Given the description of an element on the screen output the (x, y) to click on. 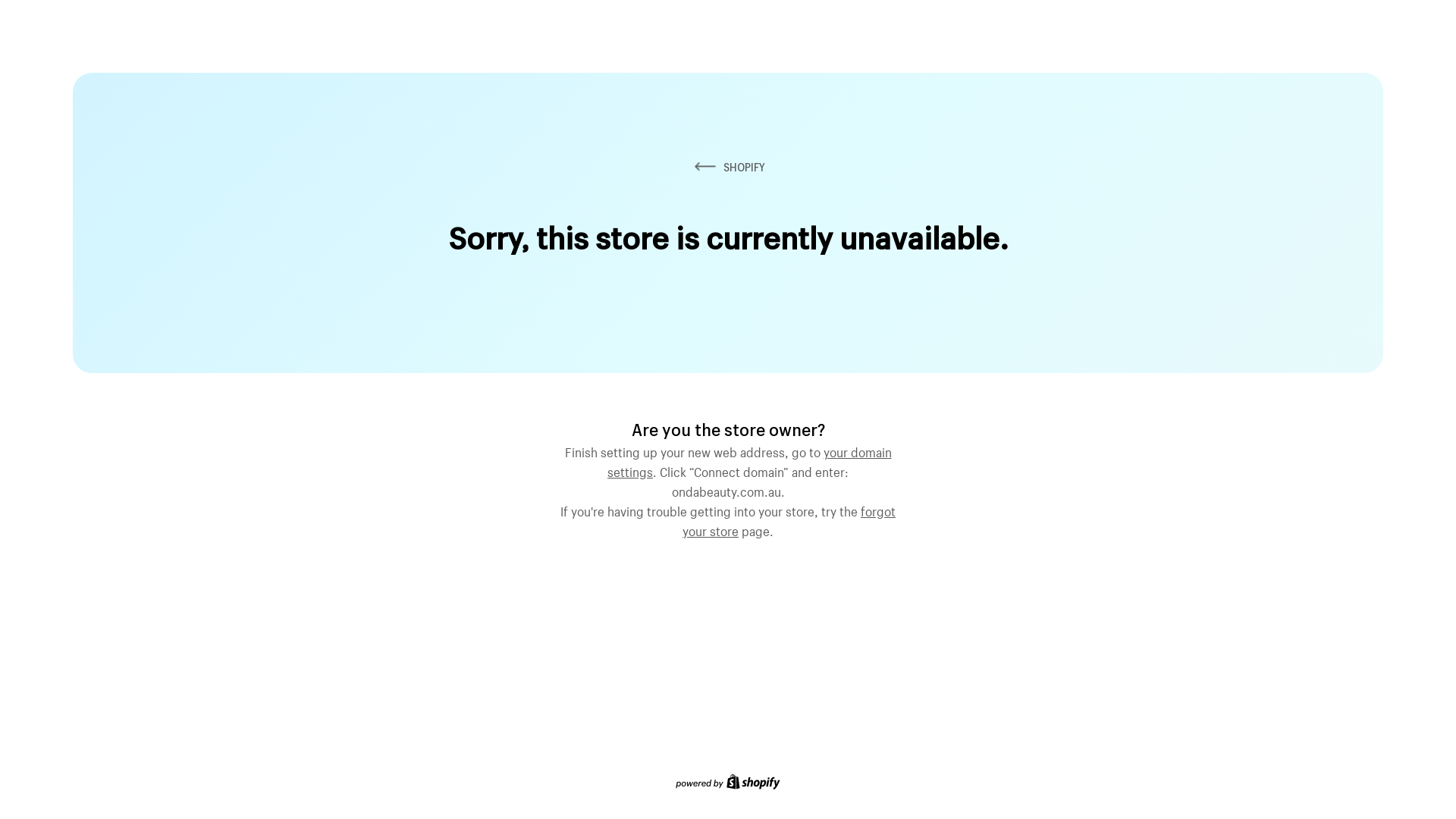
SHOPIFY Element type: text (727, 167)
your domain settings Element type: text (749, 460)
forgot your store Element type: text (788, 519)
